Given the description of an element on the screen output the (x, y) to click on. 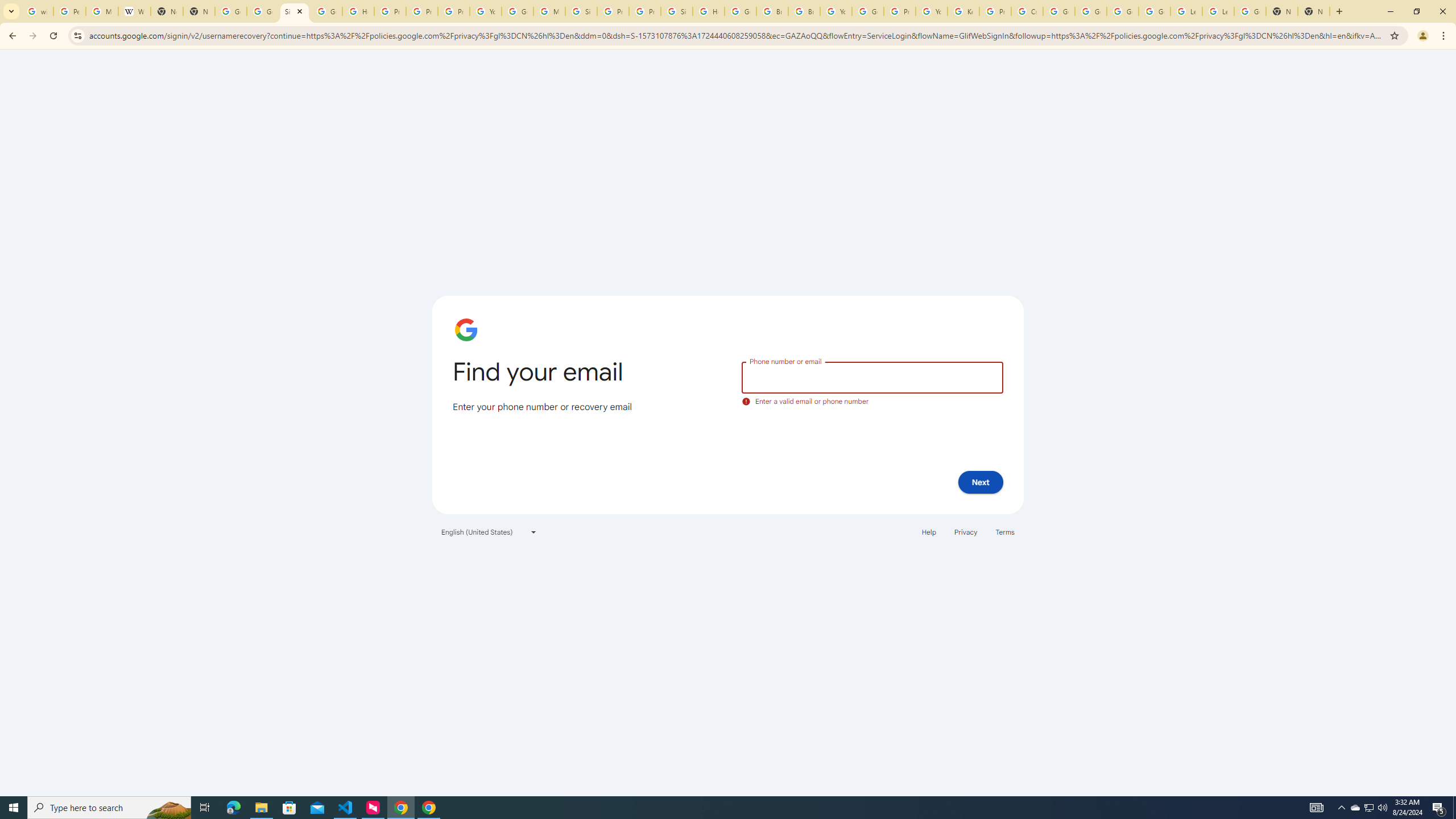
Sign in - Google Accounts (581, 11)
